Given the description of an element on the screen output the (x, y) to click on. 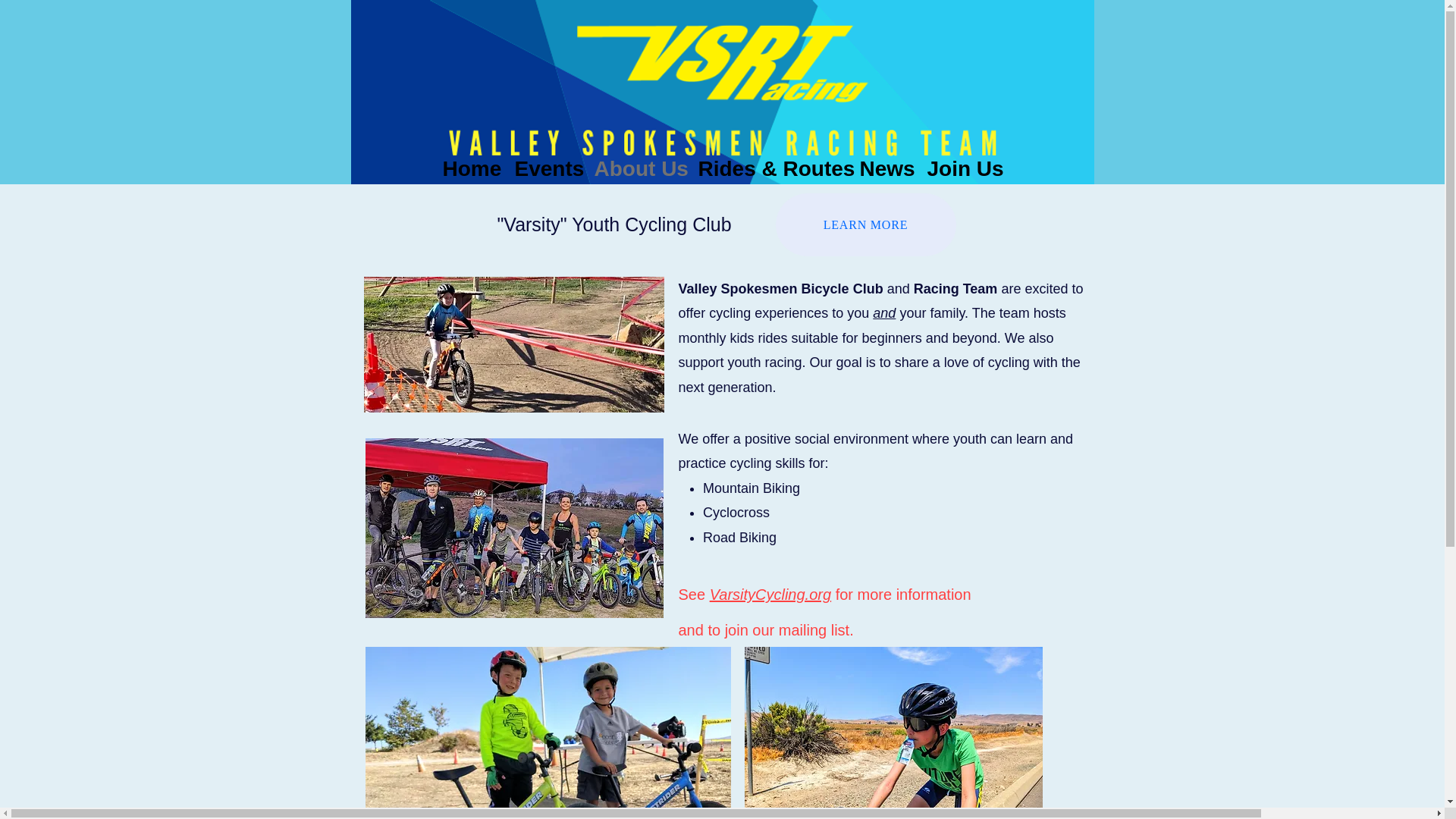
Events (546, 164)
About Us (638, 164)
Join Us (962, 164)
LEARN MORE (864, 224)
MilesM.jpg (893, 733)
Home (470, 164)
News (885, 164)
VarsityCycling.org (770, 594)
